Given the description of an element on the screen output the (x, y) to click on. 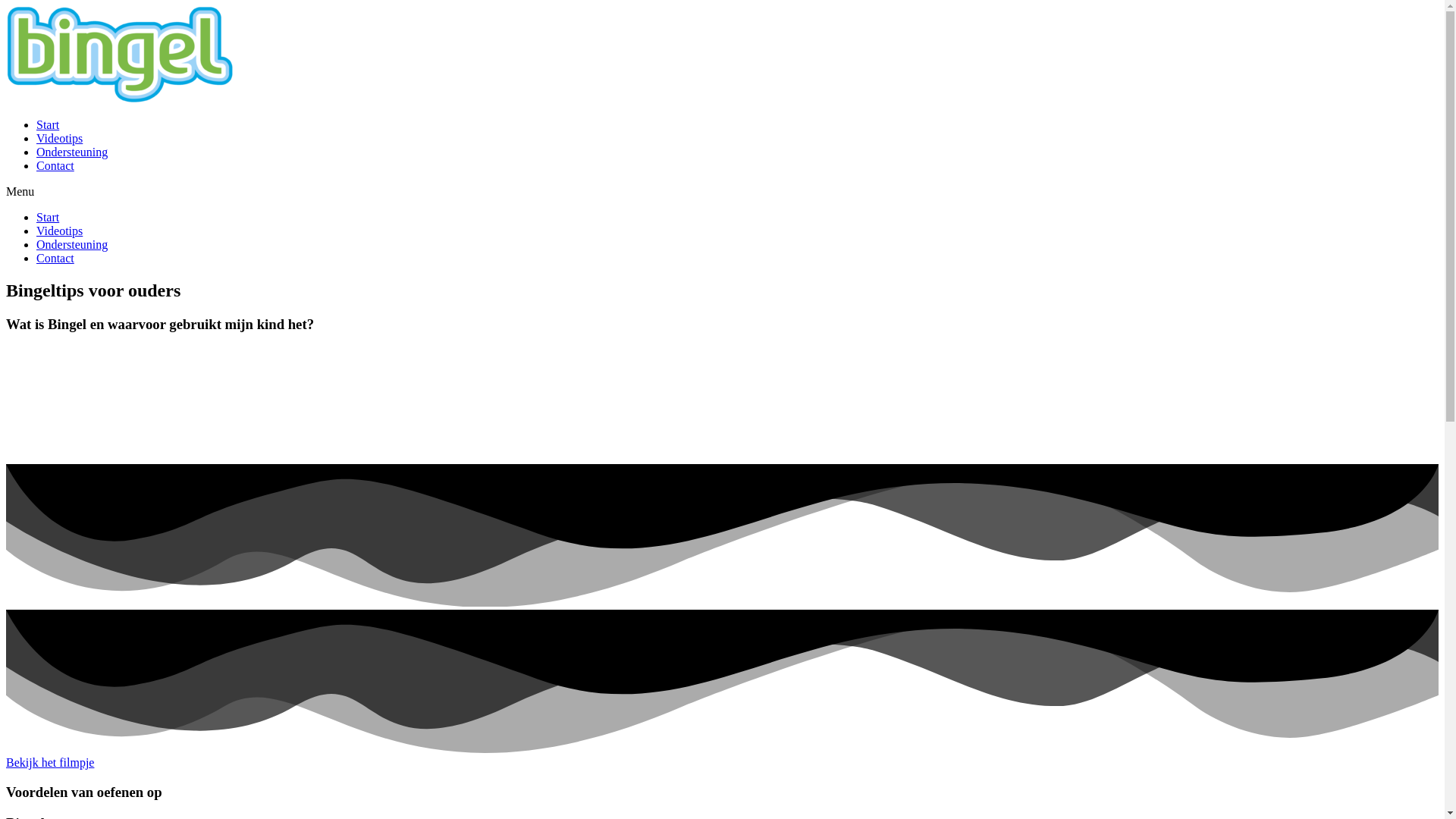
Videotips Element type: text (59, 137)
Start Element type: text (47, 124)
Ondersteuning Element type: text (71, 151)
Ondersteuning Element type: text (71, 244)
Start Element type: text (47, 216)
Ga naar de inhoud Element type: text (5, 5)
Videotips Element type: text (59, 230)
Contact Element type: text (55, 165)
Contact Element type: text (55, 257)
Bekijk het filmpje Element type: text (50, 762)
